Given the description of an element on the screen output the (x, y) to click on. 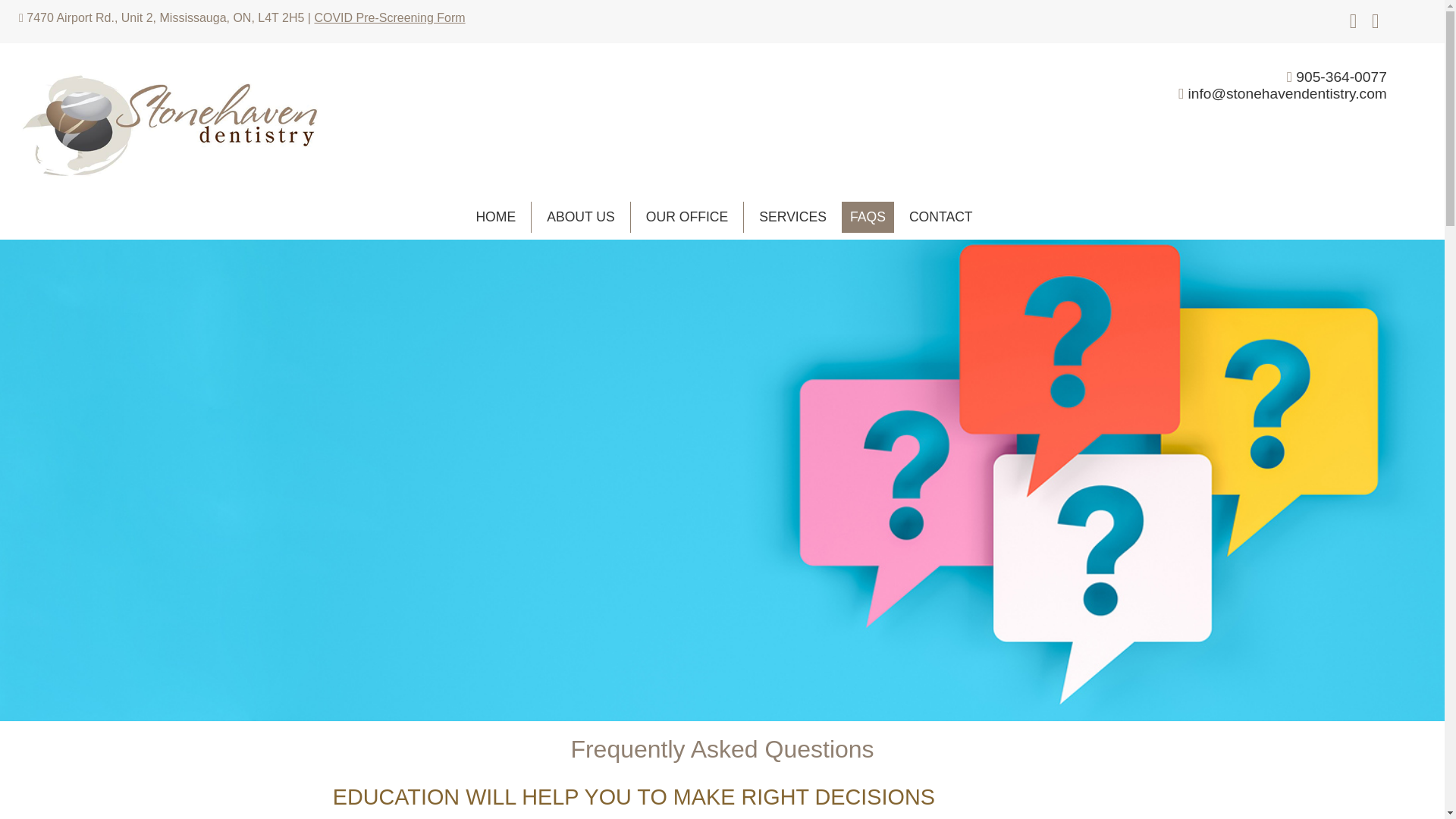
CONTACT (940, 216)
SERVICES (793, 216)
905-364-0077 (1341, 76)
FAQS (868, 216)
Stonehaven Dentistry (166, 125)
COVID Pre-Screening Form (389, 17)
ABOUT US (580, 216)
OUR OFFICE (687, 216)
HOME (495, 216)
